Given the description of an element on the screen output the (x, y) to click on. 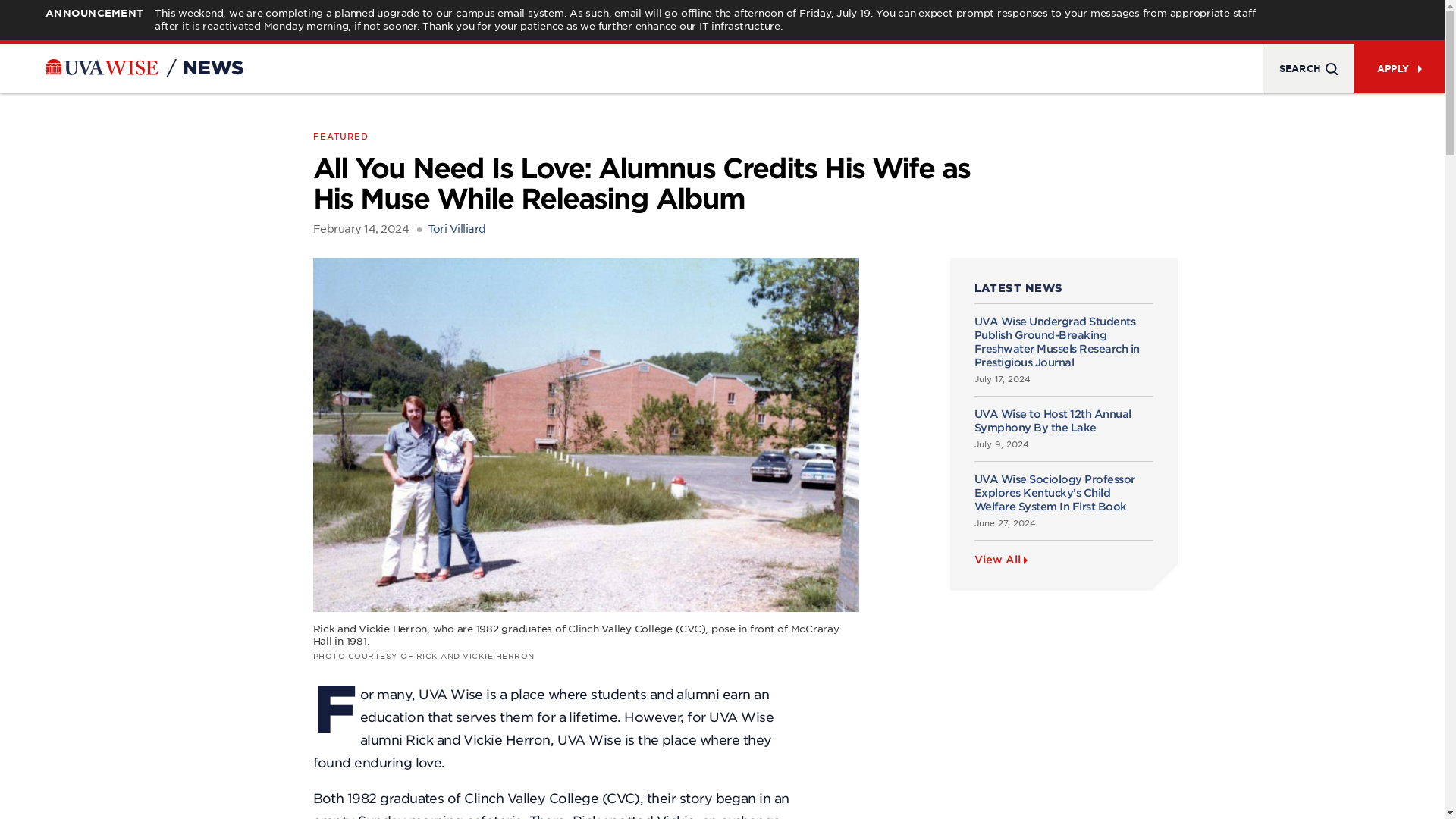
Skip to main content (15, 6)
MENU (1308, 68)
NEWS (213, 67)
